Given the description of an element on the screen output the (x, y) to click on. 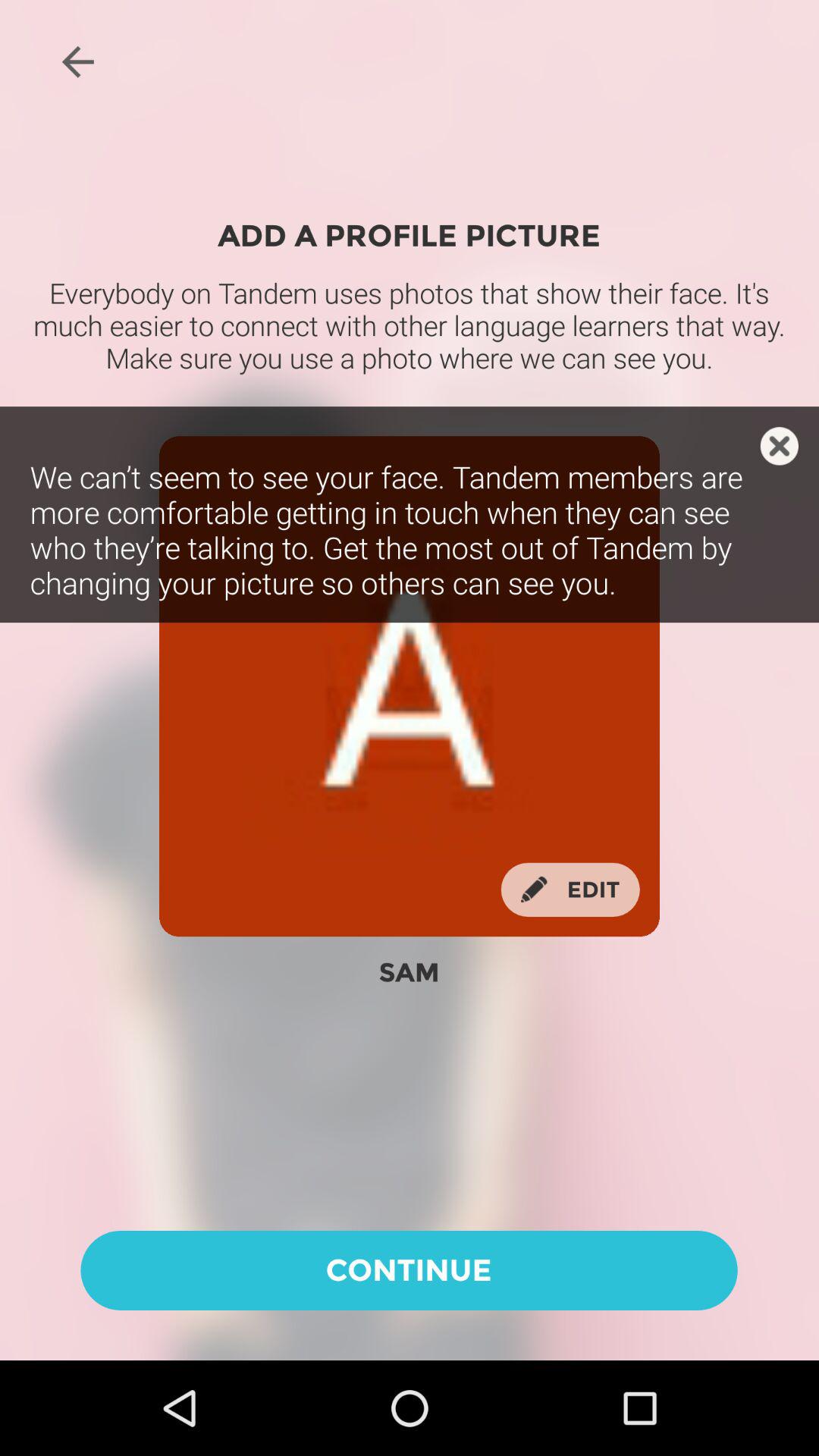
choose icon at the top left corner (77, 61)
